Given the description of an element on the screen output the (x, y) to click on. 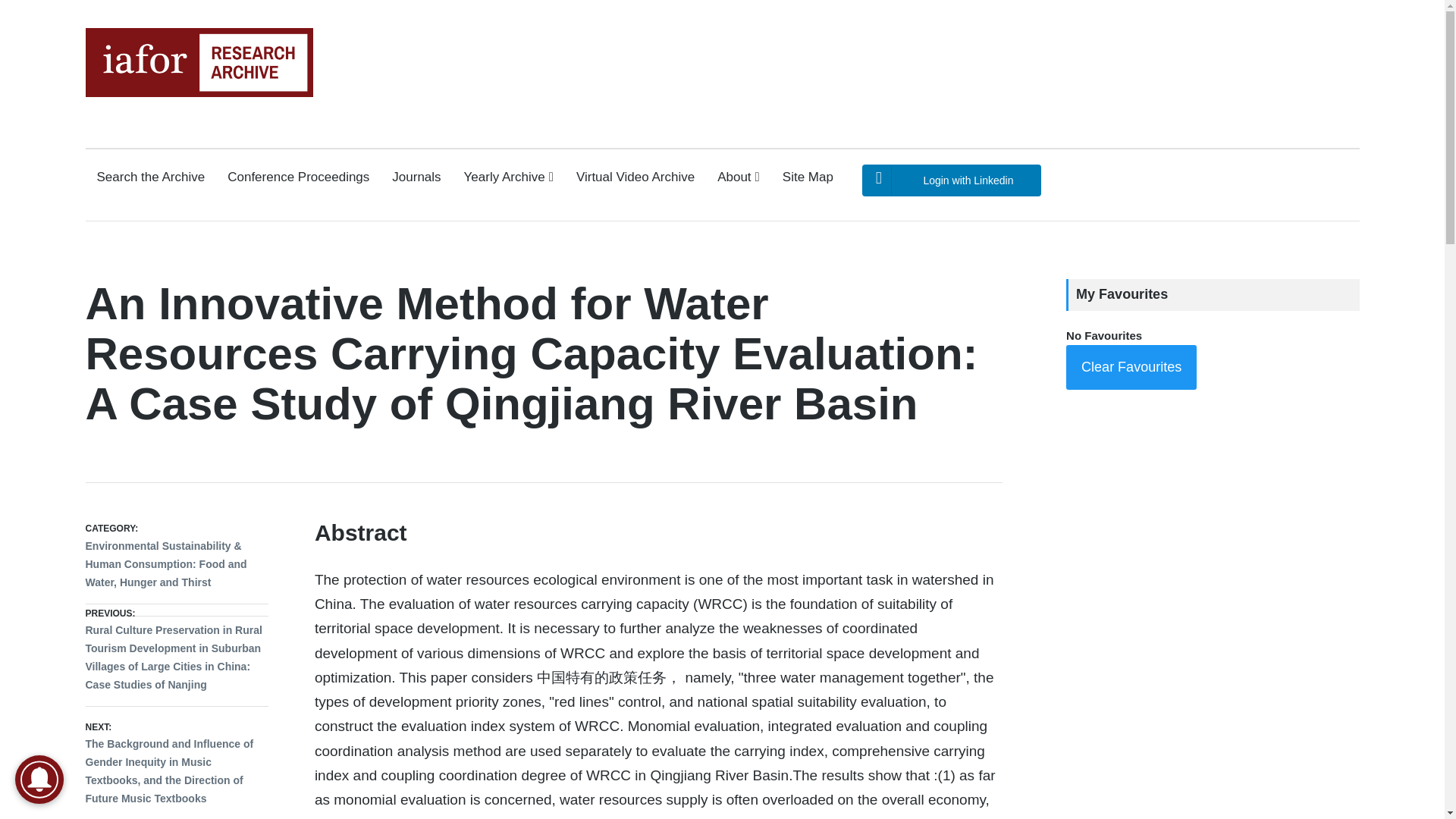
Journals (416, 177)
Yearly Archive (508, 177)
Login with Linkedin (951, 180)
Virtual Video Archive (635, 177)
Search the Archive (151, 177)
Site Map (807, 177)
The IAFOR Research Archive (145, 110)
Conference Proceedings (298, 177)
About (738, 177)
